Given the description of an element on the screen output the (x, y) to click on. 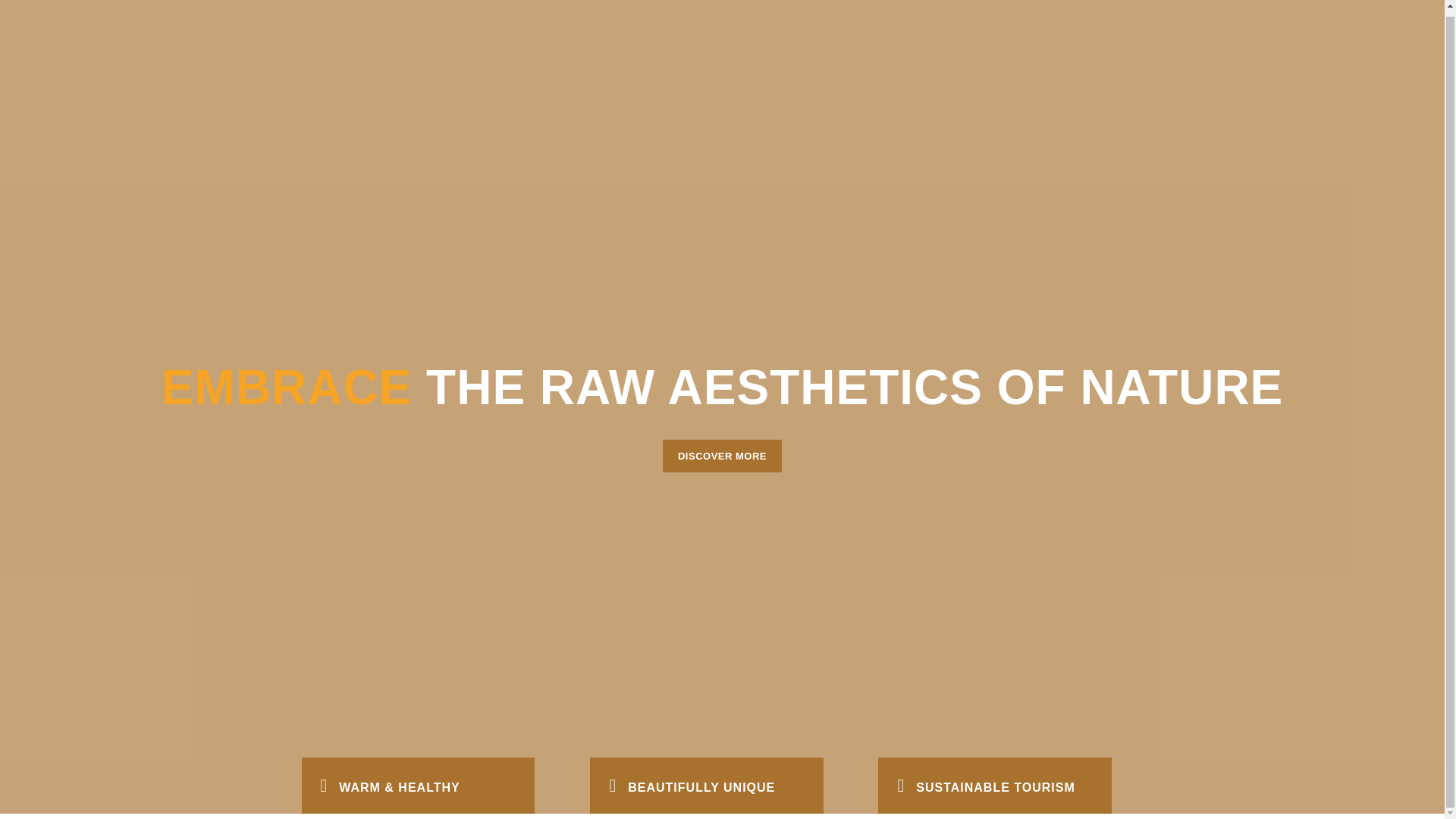
DISCOVER MORE (721, 456)
